Given the description of an element on the screen output the (x, y) to click on. 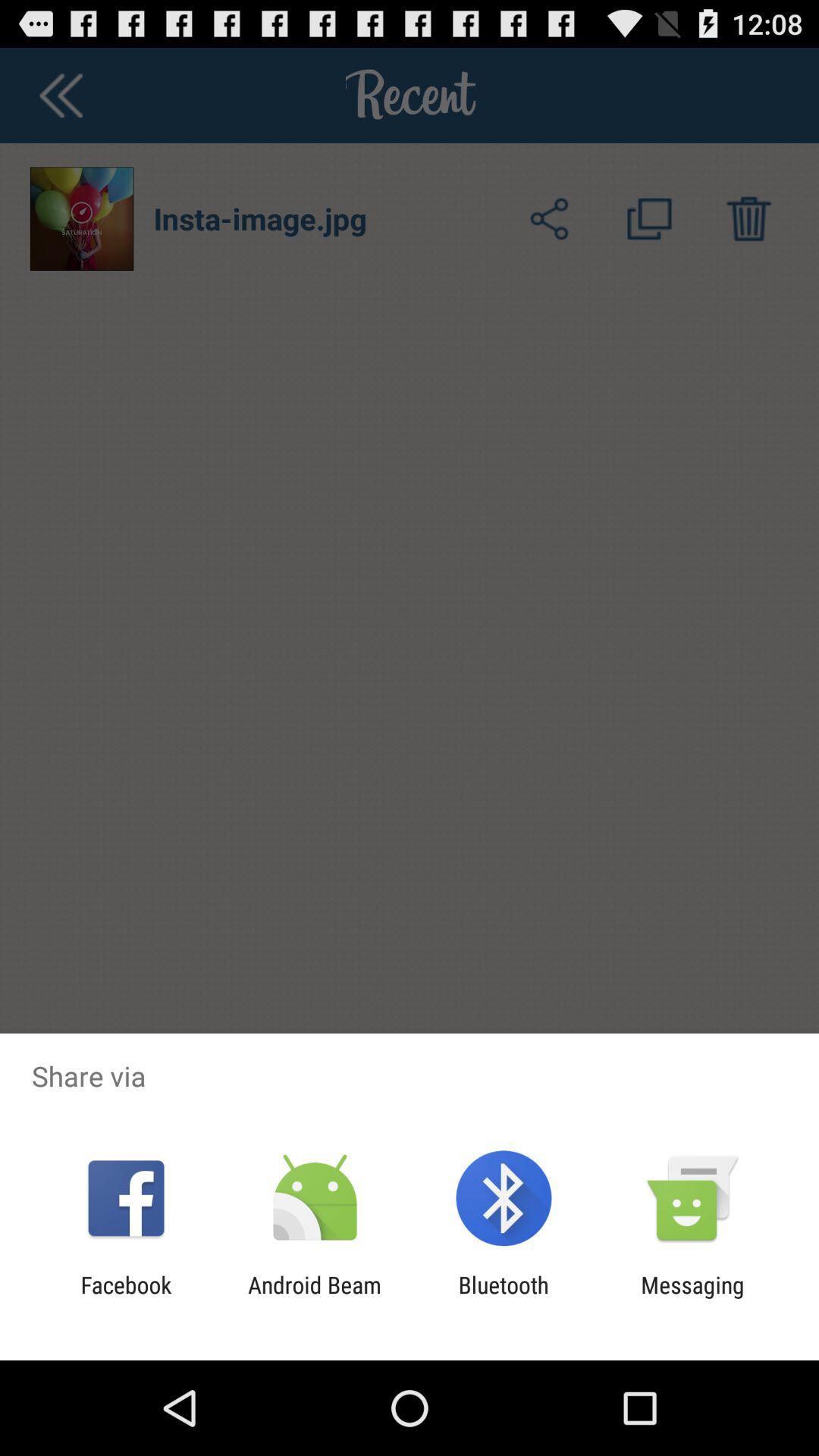
flip until messaging item (692, 1298)
